Given the description of an element on the screen output the (x, y) to click on. 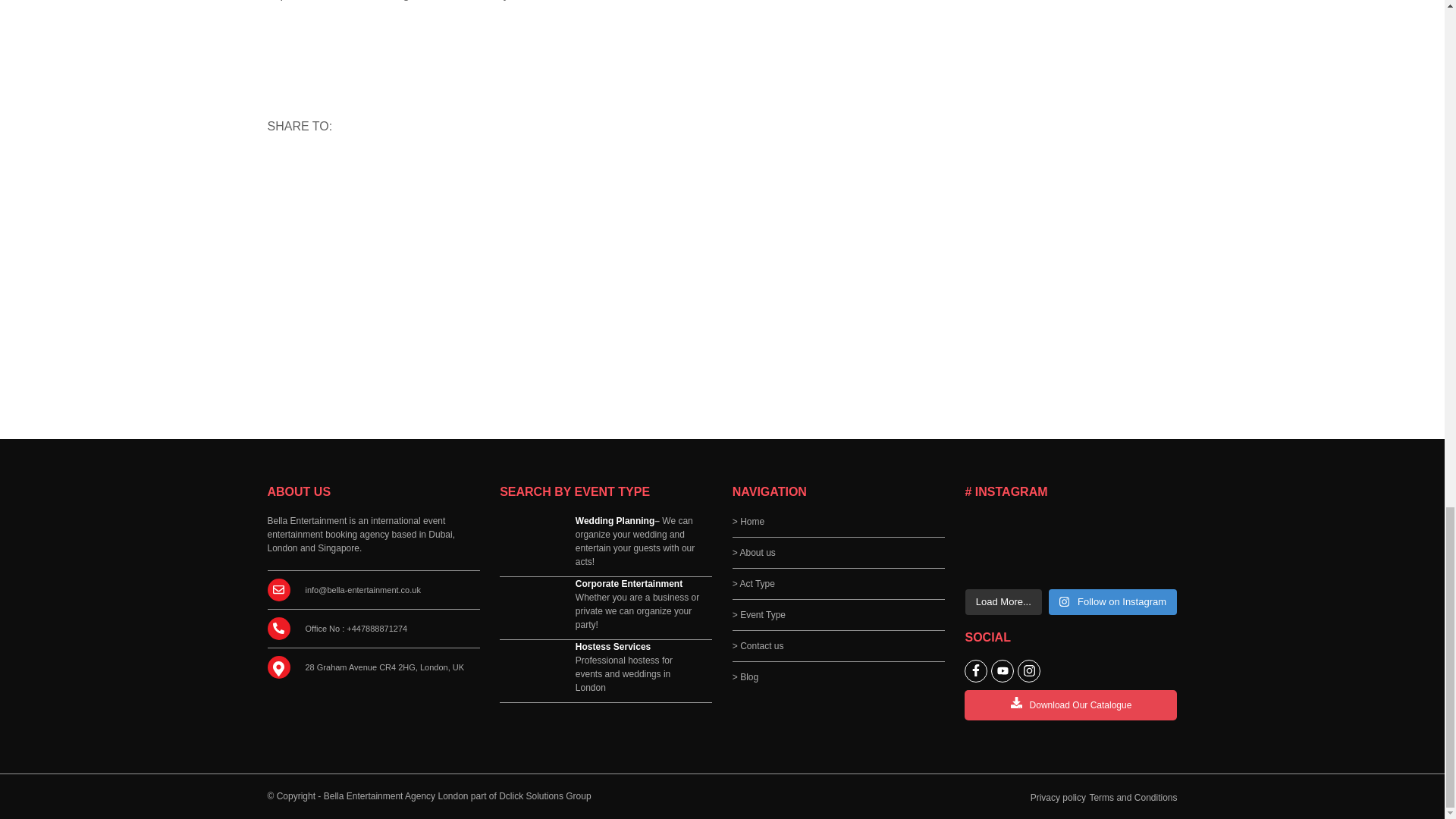
Follow by Email (319, 168)
RSS (284, 168)
Facebook (352, 168)
Twitter (387, 168)
